Given the description of an element on the screen output the (x, y) to click on. 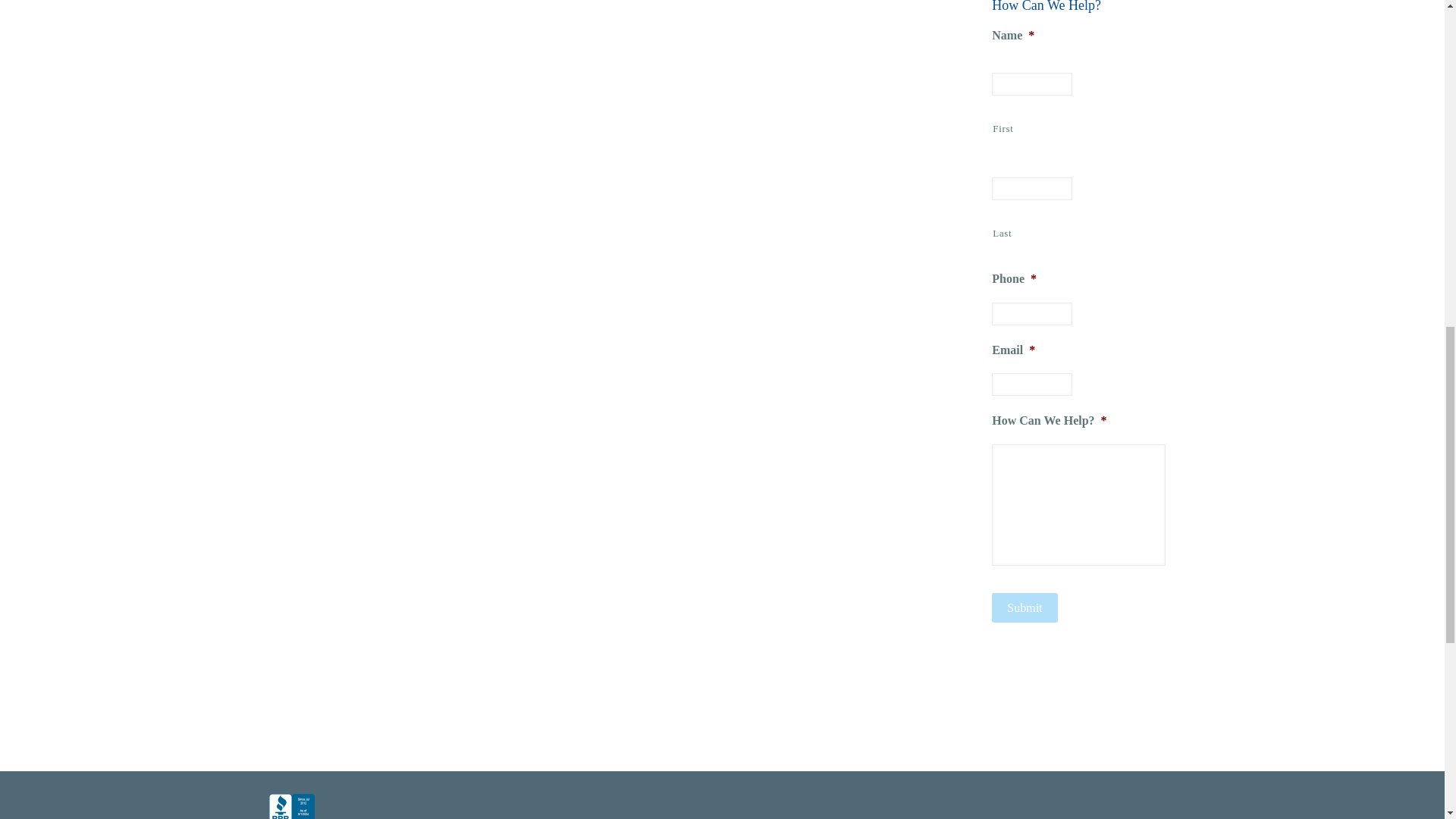
Submit (1024, 607)
Submit (1024, 607)
